Given the description of an element on the screen output the (x, y) to click on. 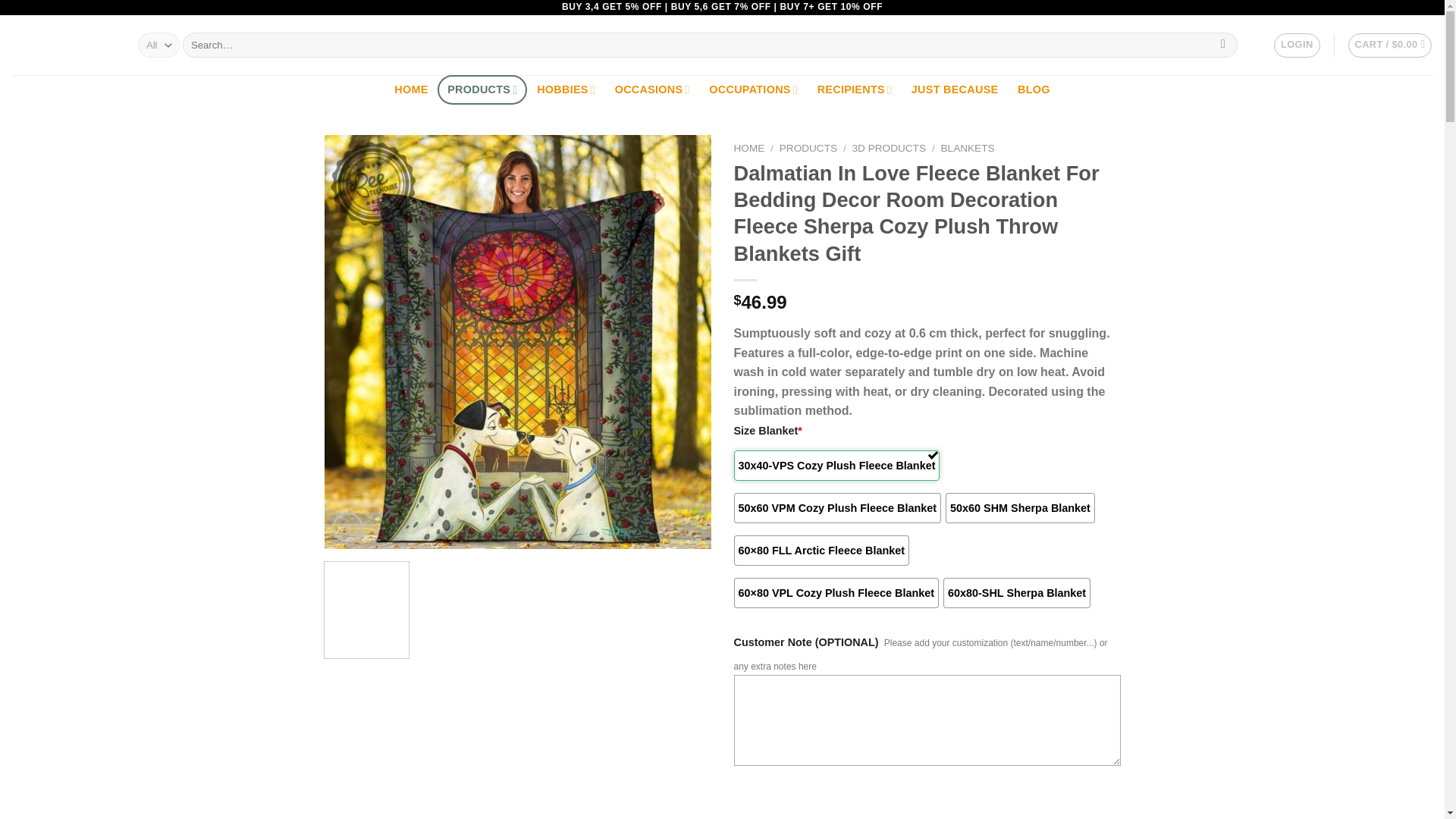
Beeteehouse - Just Your Style (63, 45)
Search (1223, 45)
HOBBIES (566, 89)
HOME (411, 89)
Cart (1390, 45)
PRODUCTS (482, 89)
LOGIN (1296, 45)
Zoom (347, 527)
